Given the description of an element on the screen output the (x, y) to click on. 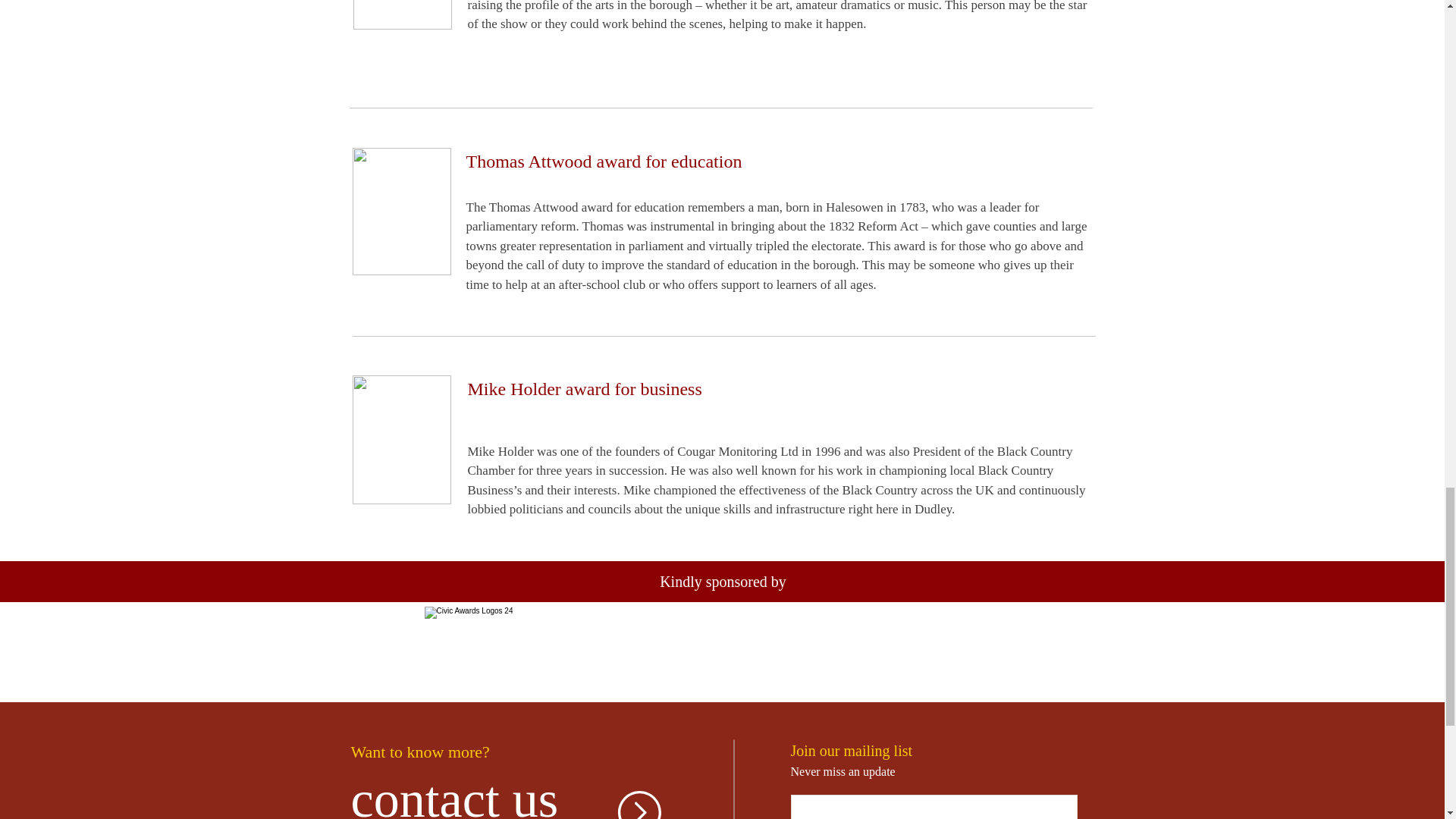
Civic Awards Logos (722, 653)
